Given the description of an element on the screen output the (x, y) to click on. 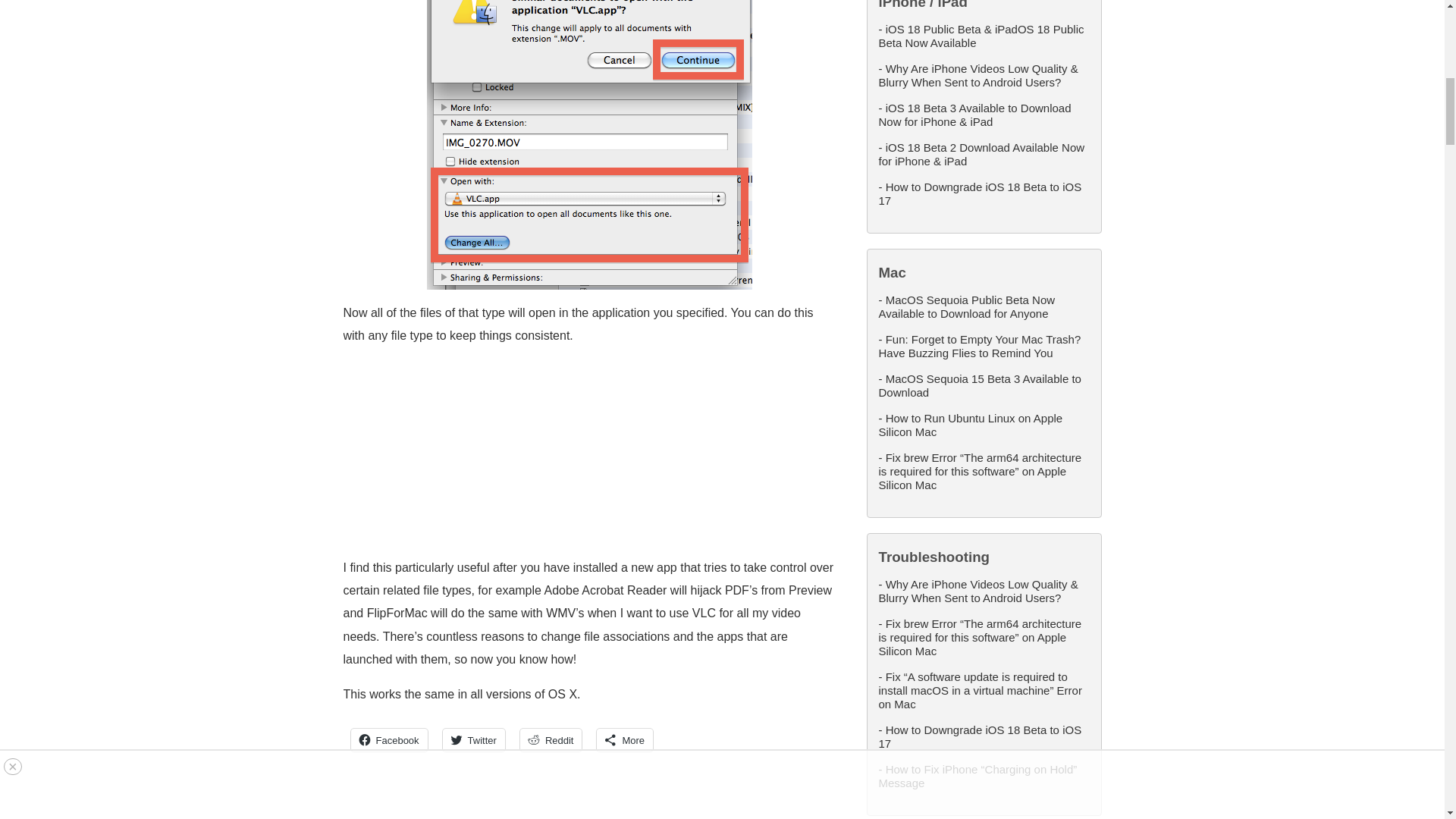
Click to share on Reddit (550, 739)
change mac file association (589, 145)
Click to share on Twitter (473, 739)
More (624, 739)
Twitter (473, 739)
Facebook (388, 739)
Reddit (550, 739)
Click to share on Facebook (388, 739)
